Given the description of an element on the screen output the (x, y) to click on. 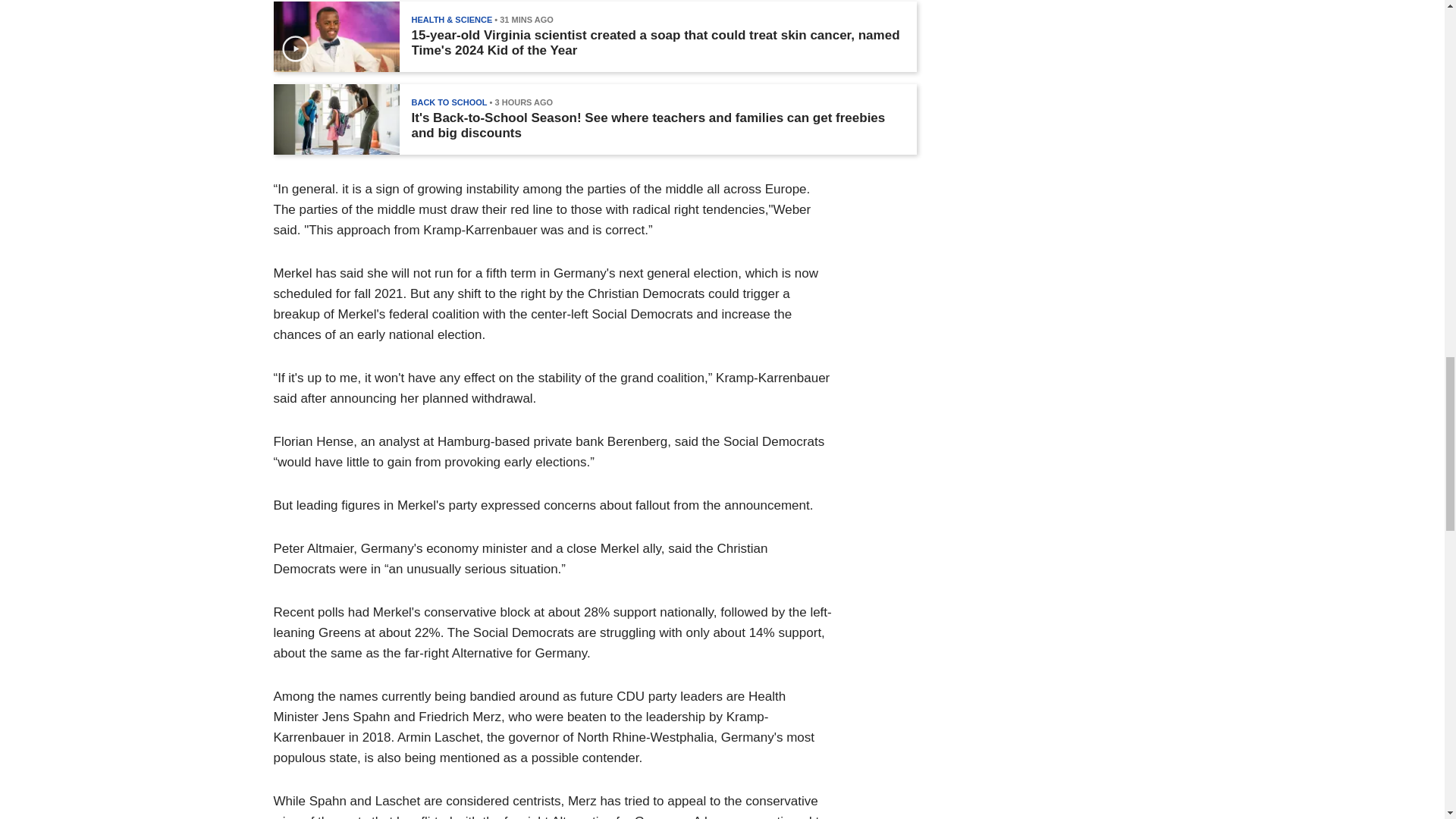
BACK TO SCHOOL (448, 102)
